Given the description of an element on the screen output the (x, y) to click on. 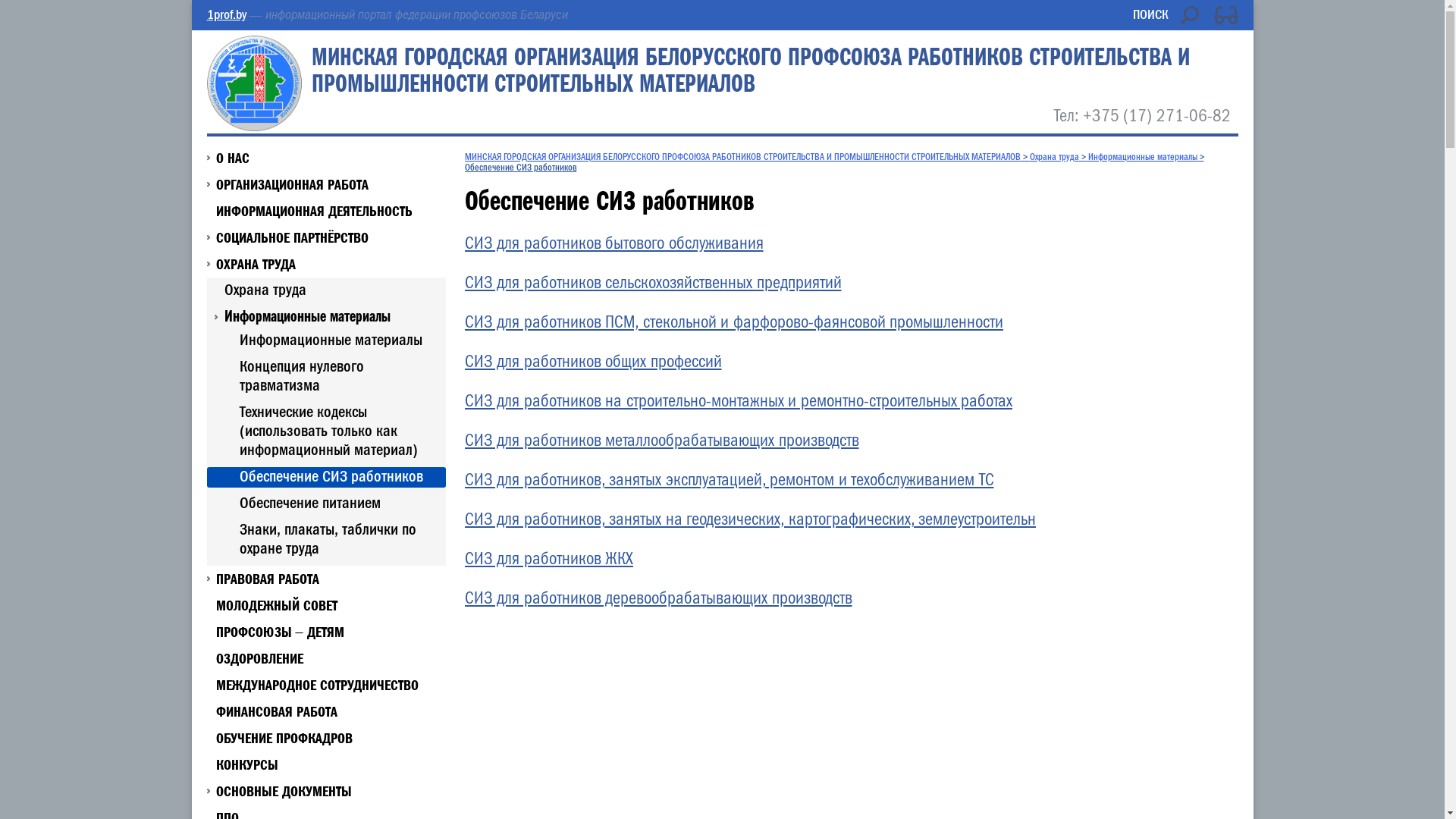
1prof.by Element type: text (225, 14)
